Given the description of an element on the screen output the (x, y) to click on. 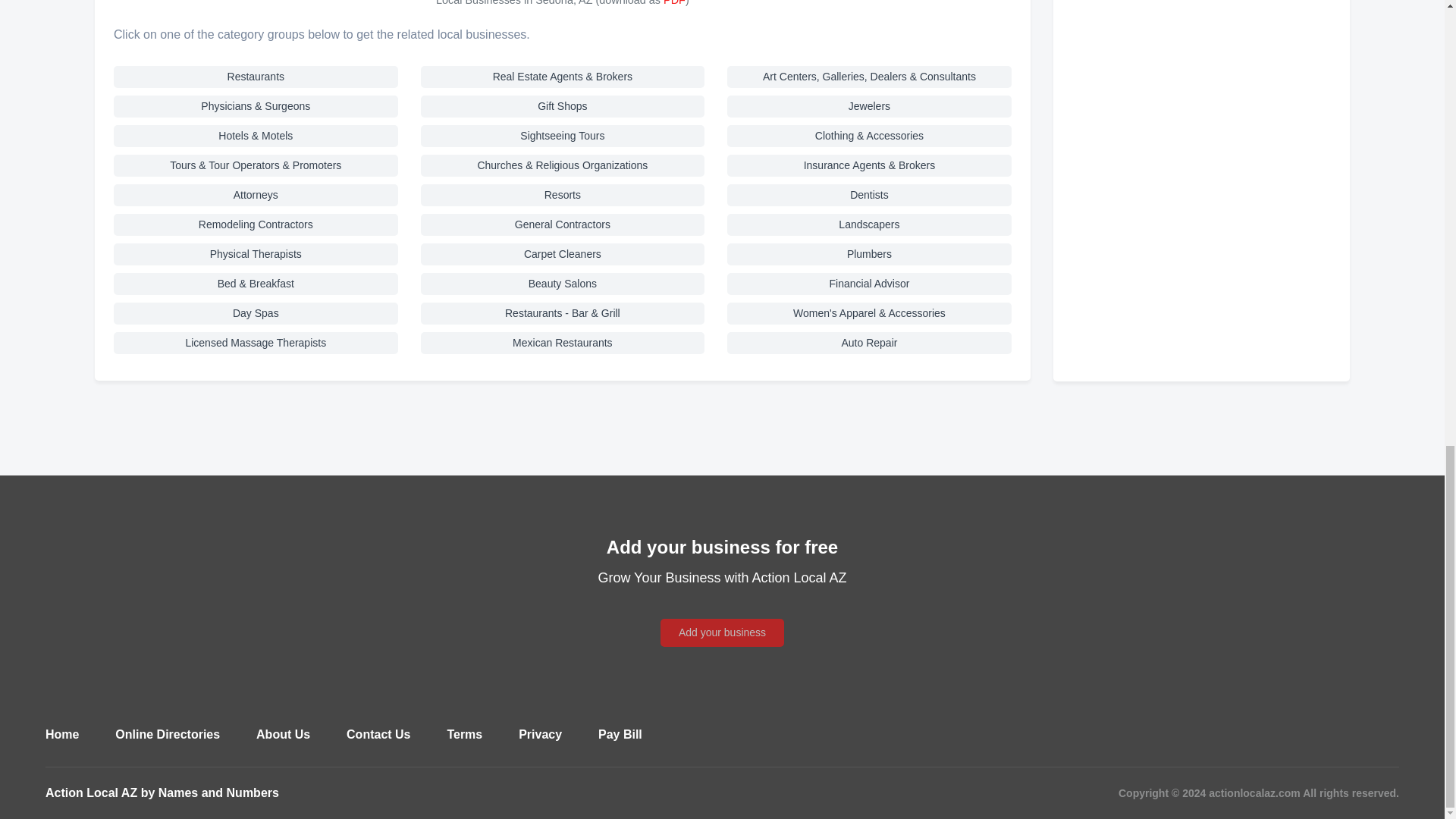
Physical Therapists (255, 261)
General Contractors (562, 232)
PDF (674, 2)
Attorneys (255, 202)
Dentists (868, 202)
Remodeling Contractors (255, 232)
Financial Advisor (868, 291)
Carpet Cleaners (562, 261)
Plumbers (868, 261)
Day Spas (255, 320)
